Given the description of an element on the screen output the (x, y) to click on. 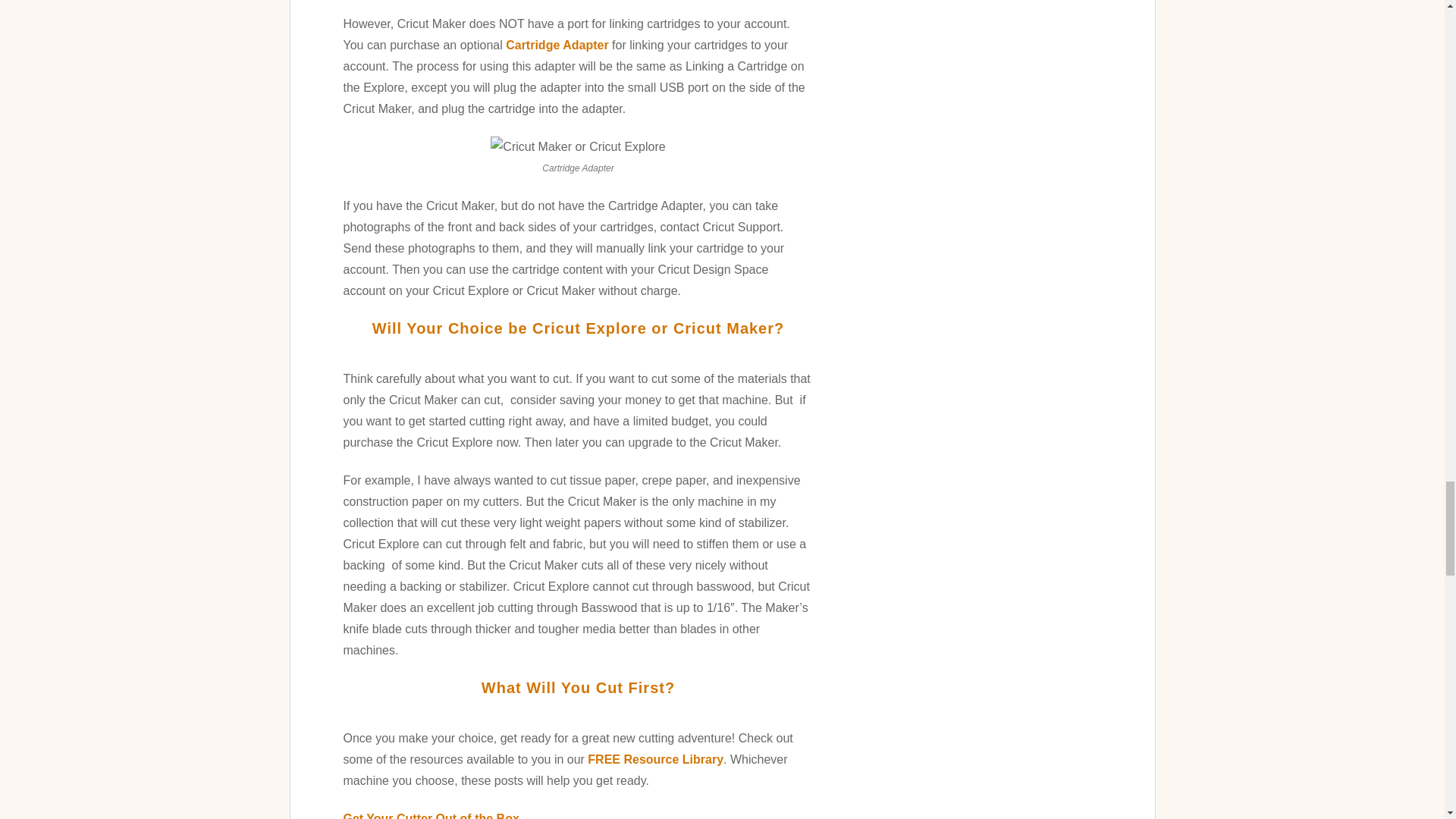
Cartridge Adapter (556, 44)
Get Your Cutter Out of the Box (430, 815)
FREE Resource Library (655, 758)
